Given the description of an element on the screen output the (x, y) to click on. 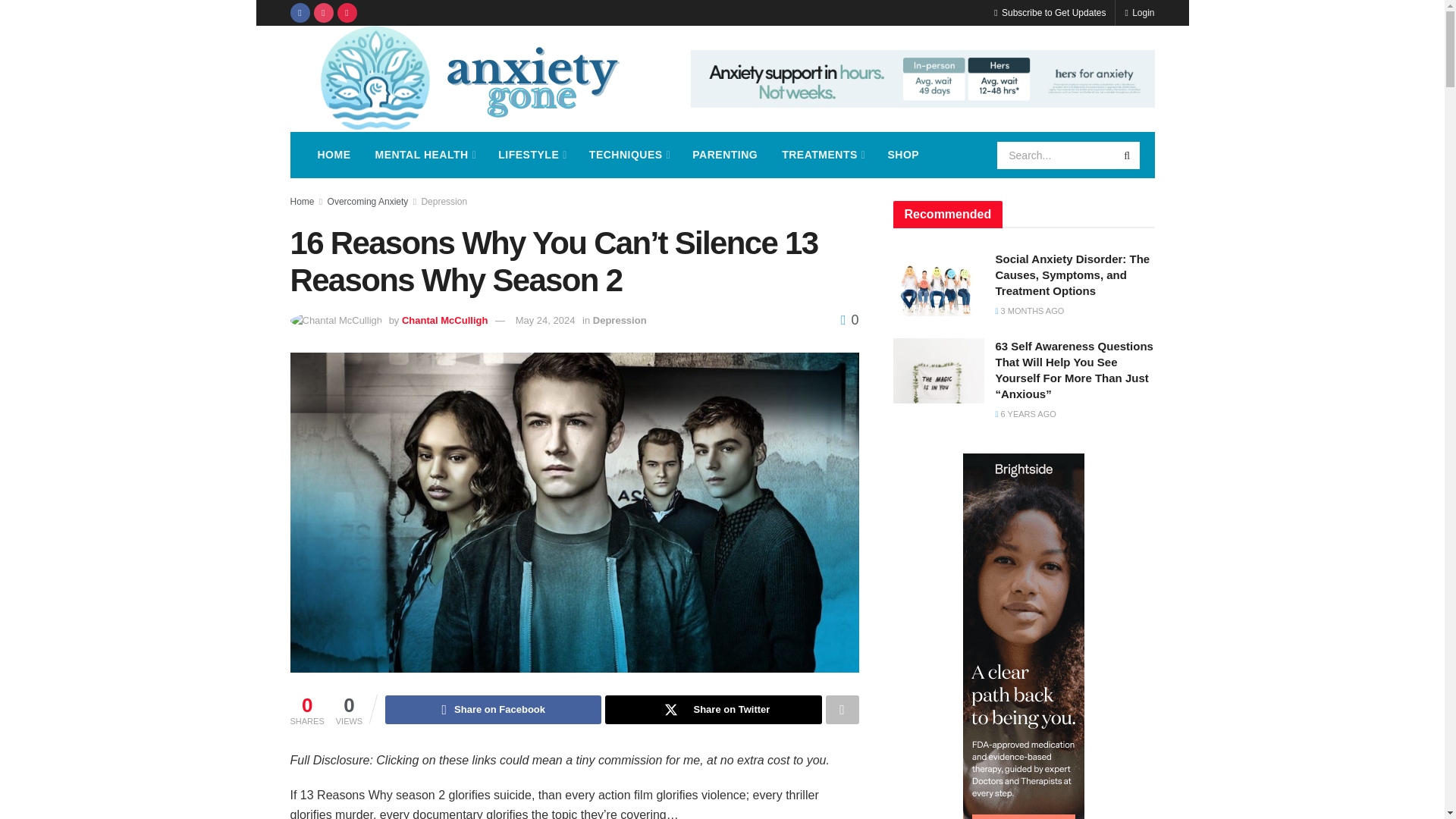
MENTAL HEALTH (424, 154)
Subscribe to Get Updates (1049, 12)
HOME (333, 154)
Login (1139, 12)
